Given the description of an element on the screen output the (x, y) to click on. 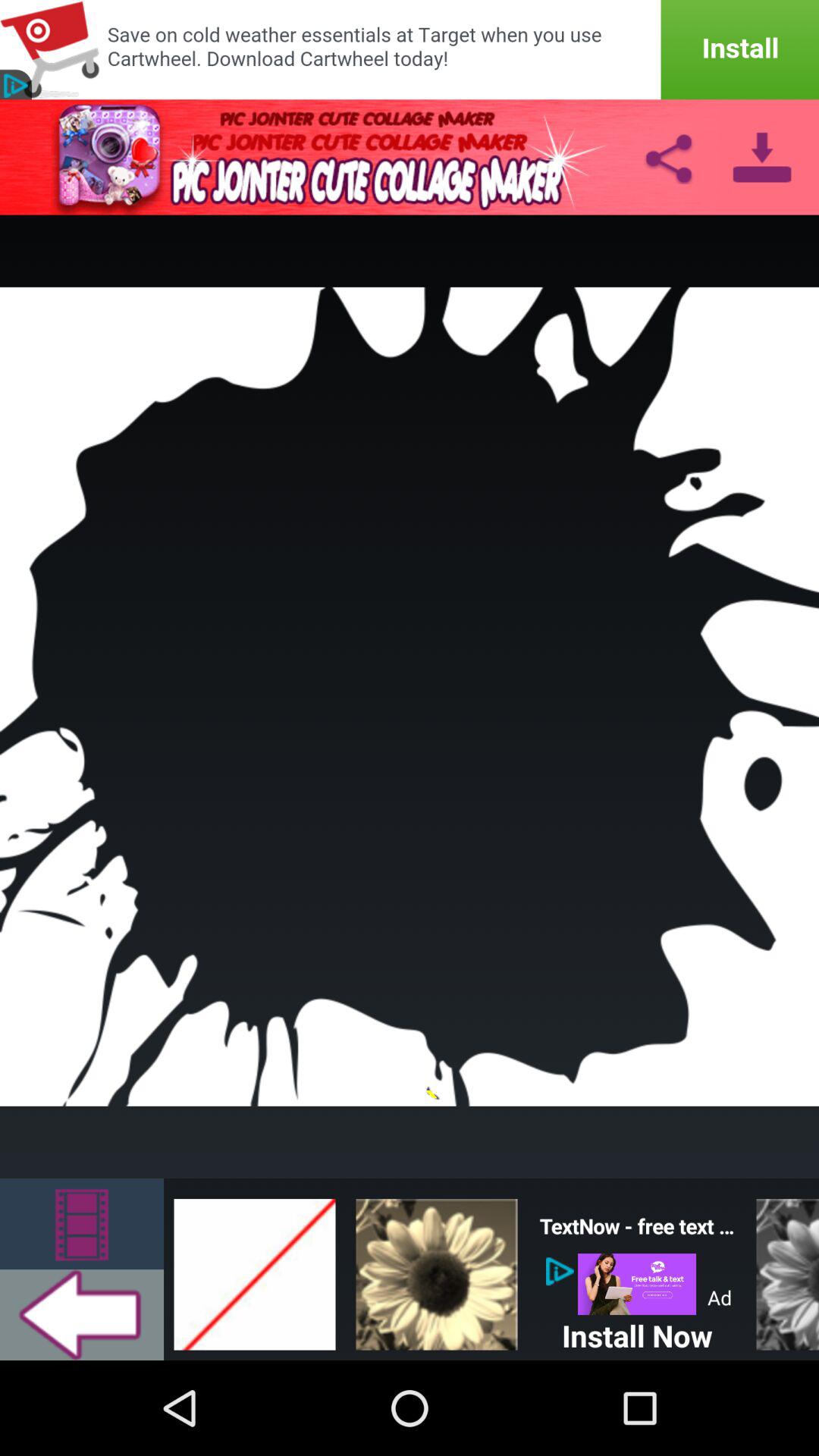
download a image (762, 156)
